Given the description of an element on the screen output the (x, y) to click on. 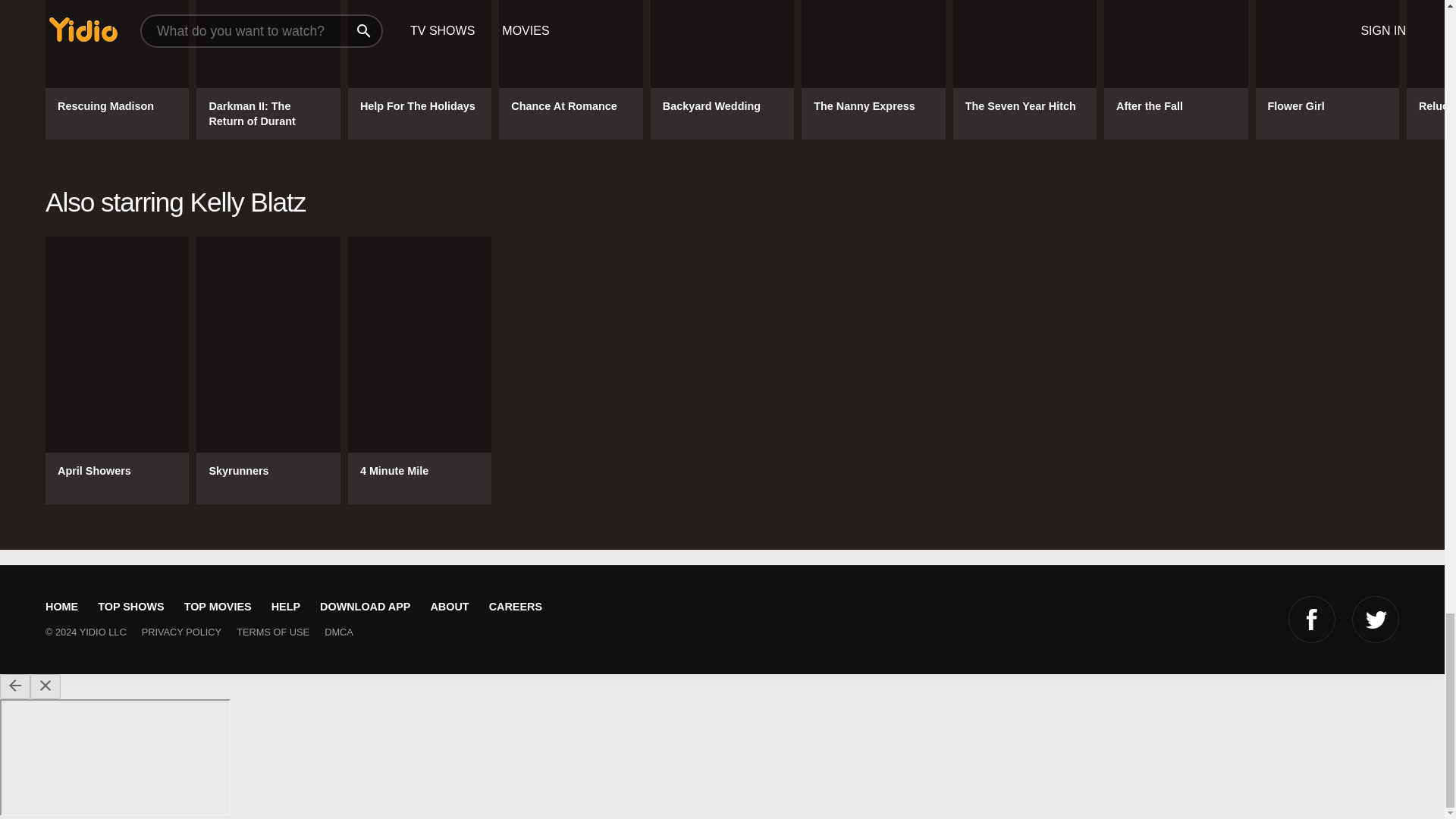
Facebook (1311, 619)
Twitter (1375, 619)
